Given the description of an element on the screen output the (x, y) to click on. 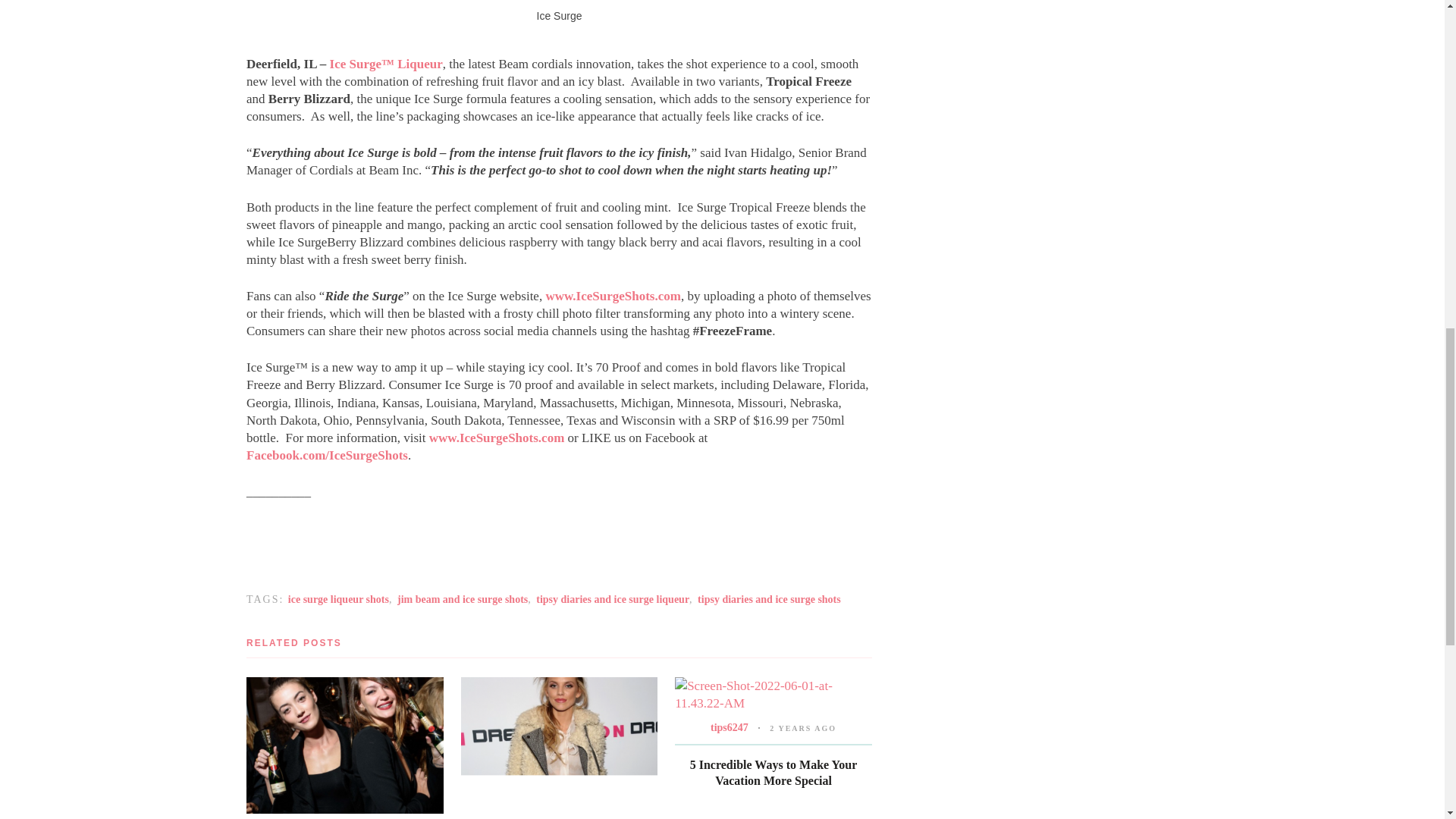
www.IceSurgeShots.com (496, 437)
iss (496, 437)
fbiss (326, 454)
tipsy diaries and ice surge shots (769, 599)
ice surge liqueur shots (338, 599)
www.IceSurgeShots.com (612, 296)
jim beam and ice surge shots (462, 599)
tipsy diaries and ice surge liqueur (611, 599)
iss (612, 296)
Posts by tips6247 (729, 727)
